Given the description of an element on the screen output the (x, y) to click on. 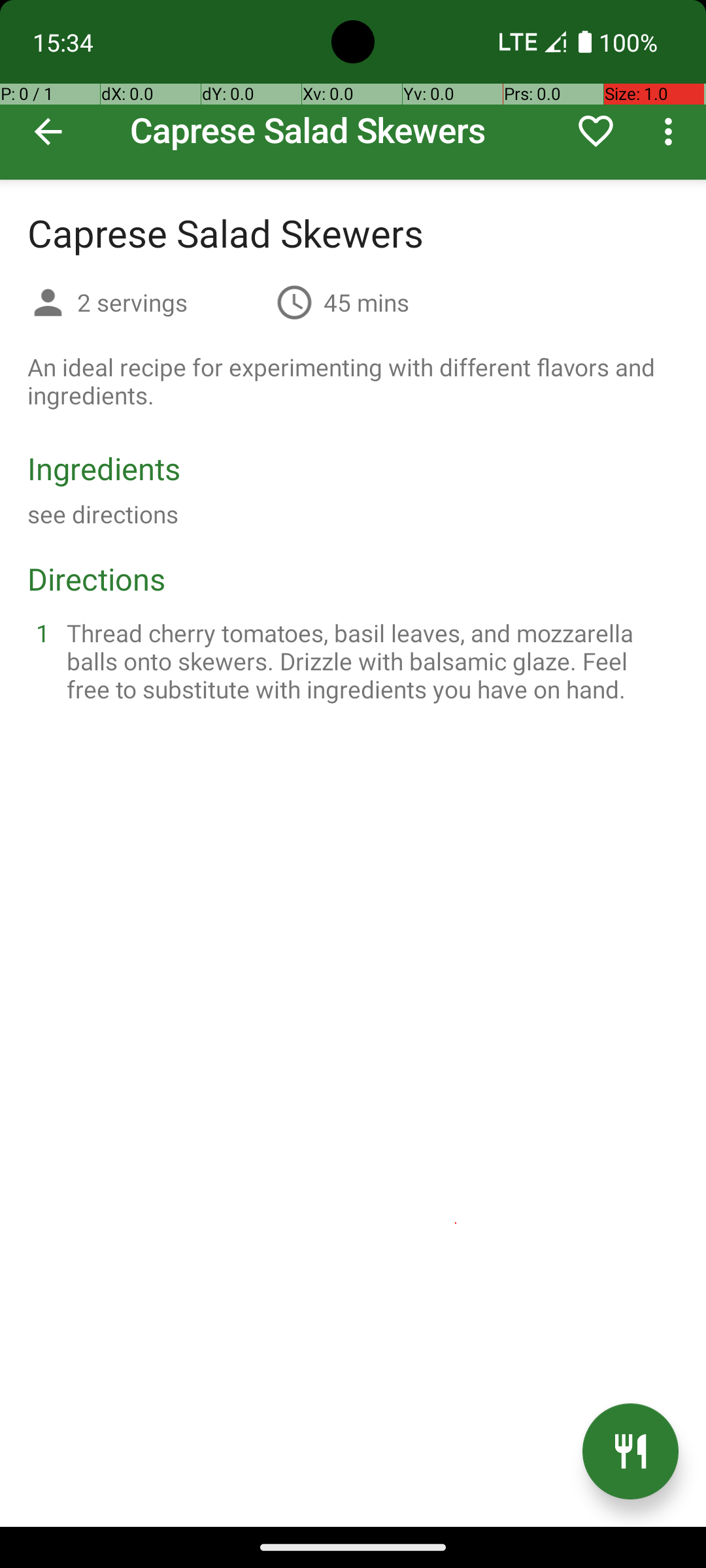
Thread cherry tomatoes, basil leaves, and mozzarella balls onto skewers. Drizzle with balsamic glaze. Feel free to substitute with ingredients you have on hand. Element type: android.widget.TextView (368, 660)
